Given the description of an element on the screen output the (x, y) to click on. 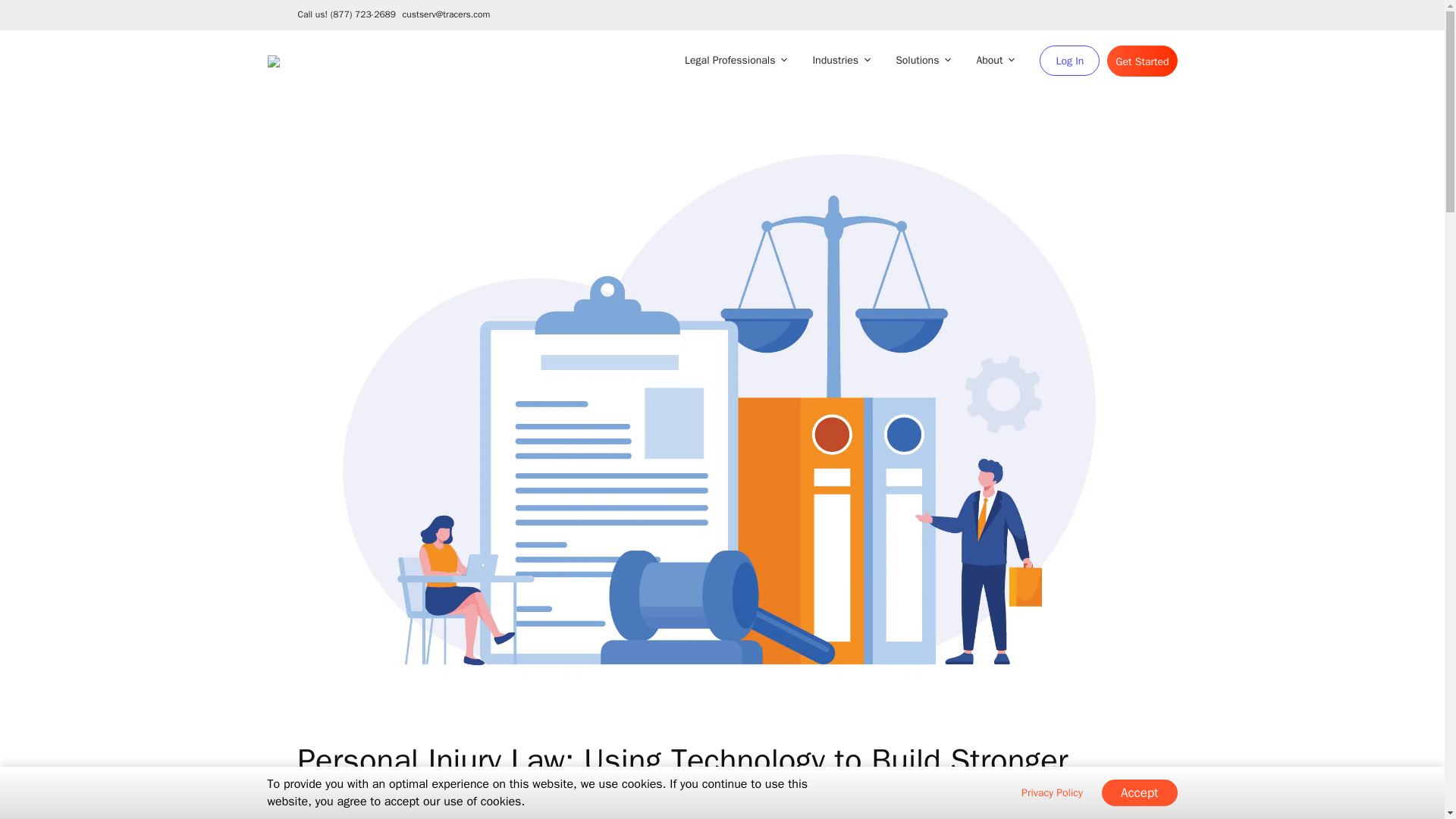
Legal Professionals (732, 60)
Industries (838, 60)
Legal Professionals (732, 60)
